Given the description of an element on the screen output the (x, y) to click on. 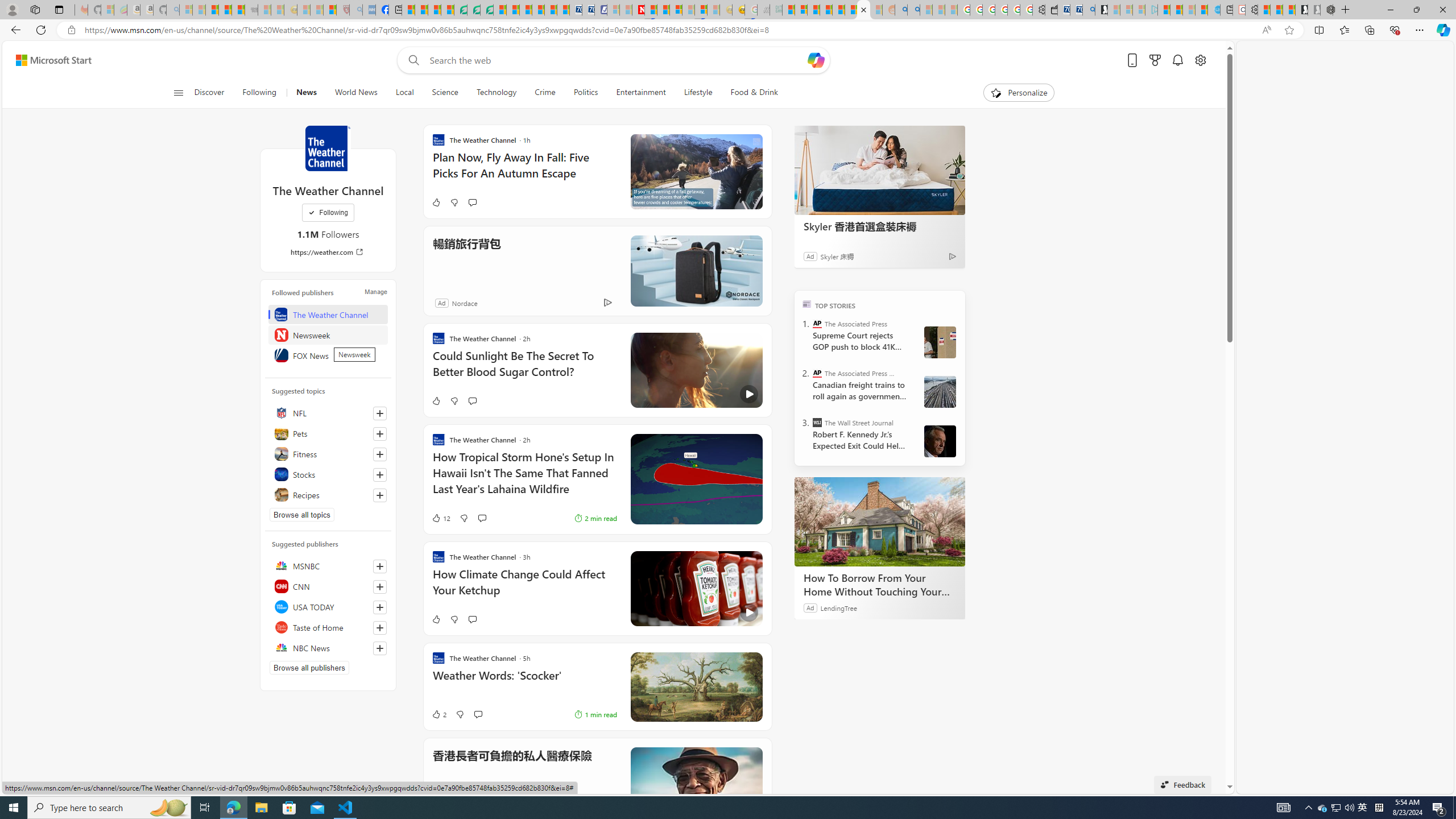
Kinda Frugal - MSN (850, 9)
